Given the description of an element on the screen output the (x, y) to click on. 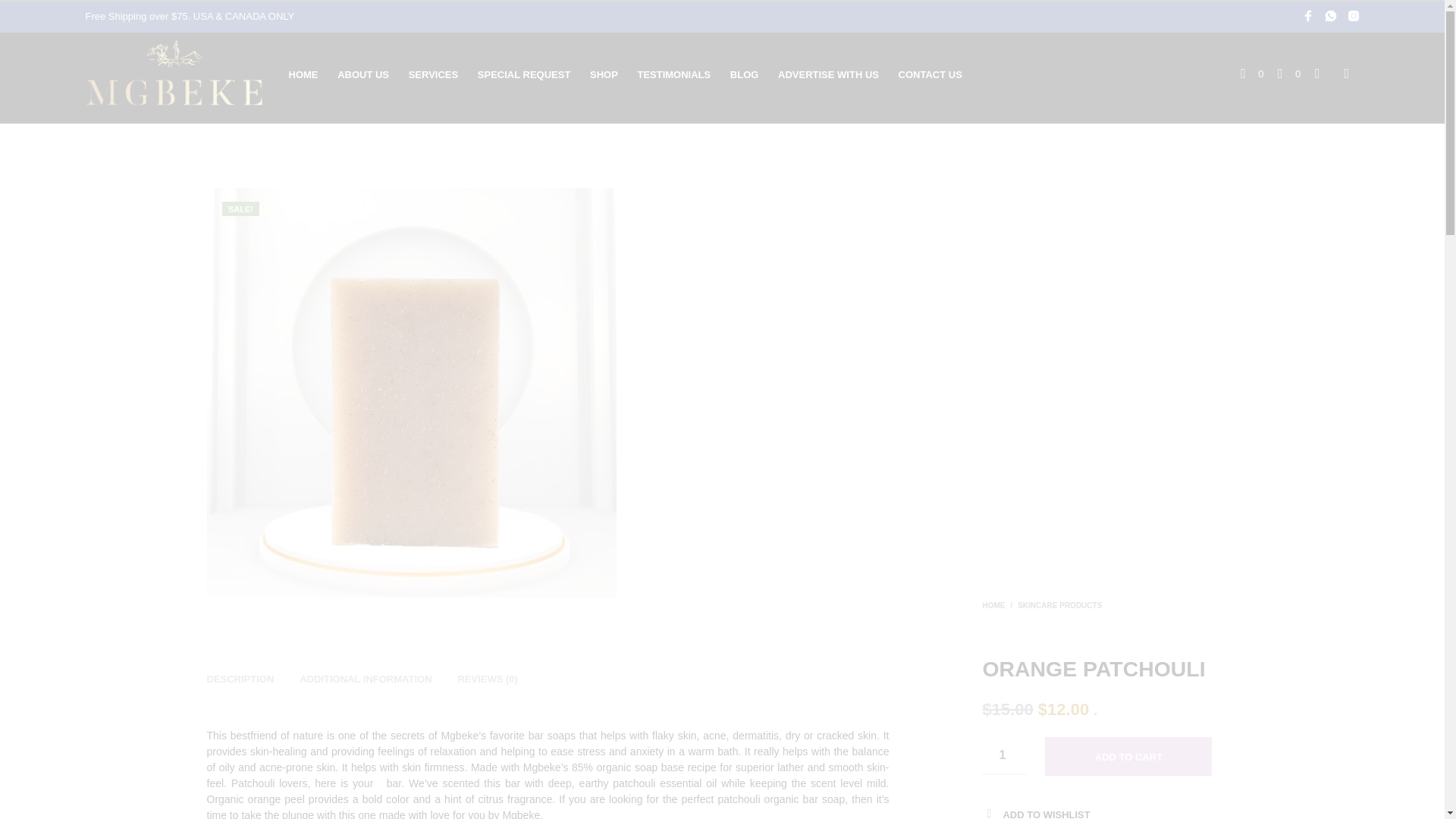
HOME (992, 605)
SKINCARE PRODUCTS (1059, 605)
0 (1251, 73)
BLOG (753, 74)
ABOUT US (371, 74)
ADD TO WISHLIST (1046, 814)
ADD TO CART (1128, 756)
Qty (1004, 755)
DESCRIPTION (239, 674)
SPECIAL REQUEST (532, 74)
